Given the description of an element on the screen output the (x, y) to click on. 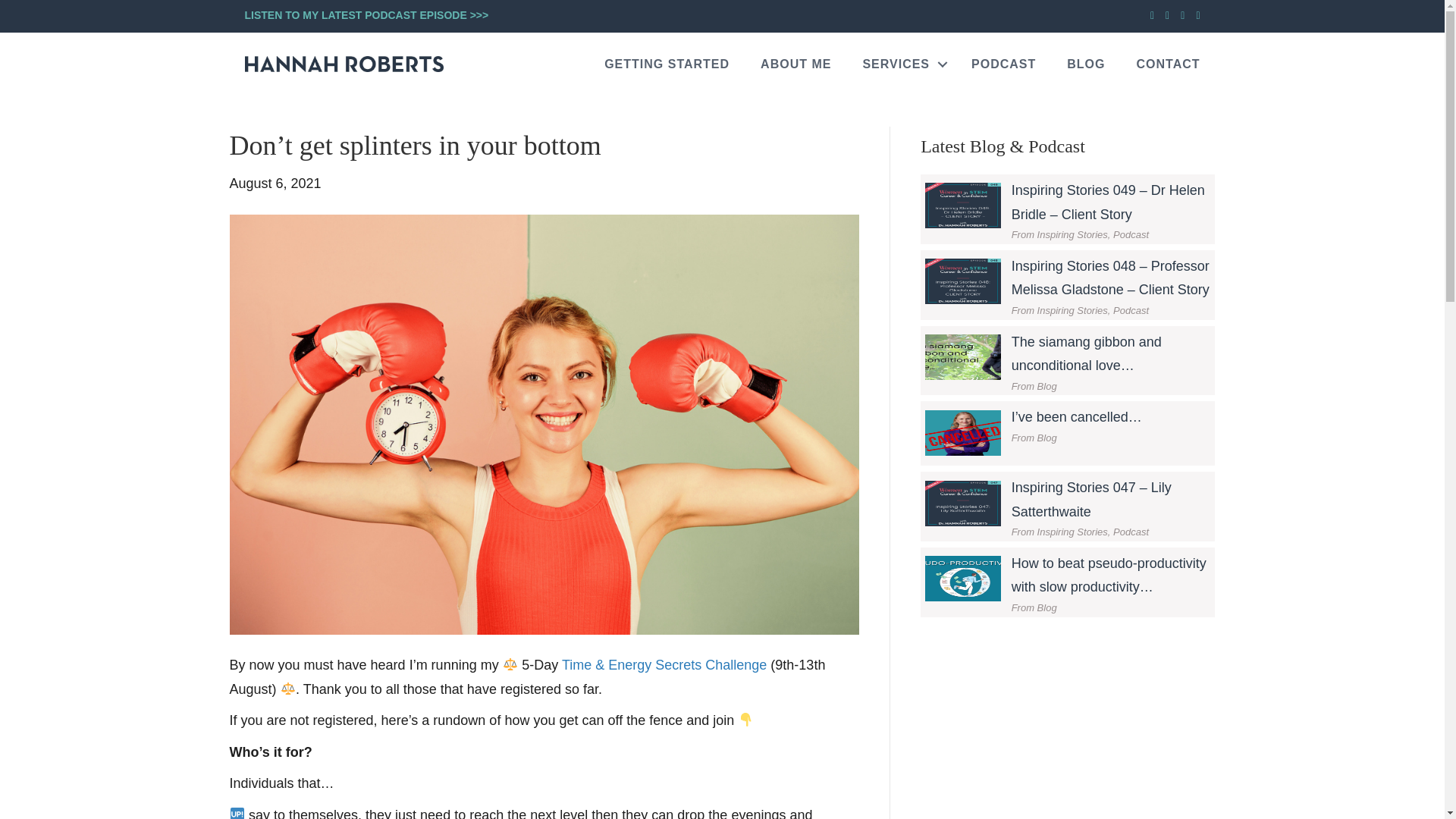
SERVICES (901, 70)
GETTING STARTED (666, 73)
BLOG (1085, 64)
PODCAST (1003, 64)
ABOUT ME (795, 71)
logo (343, 64)
CONTACT (1167, 64)
